Given the description of an element on the screen output the (x, y) to click on. 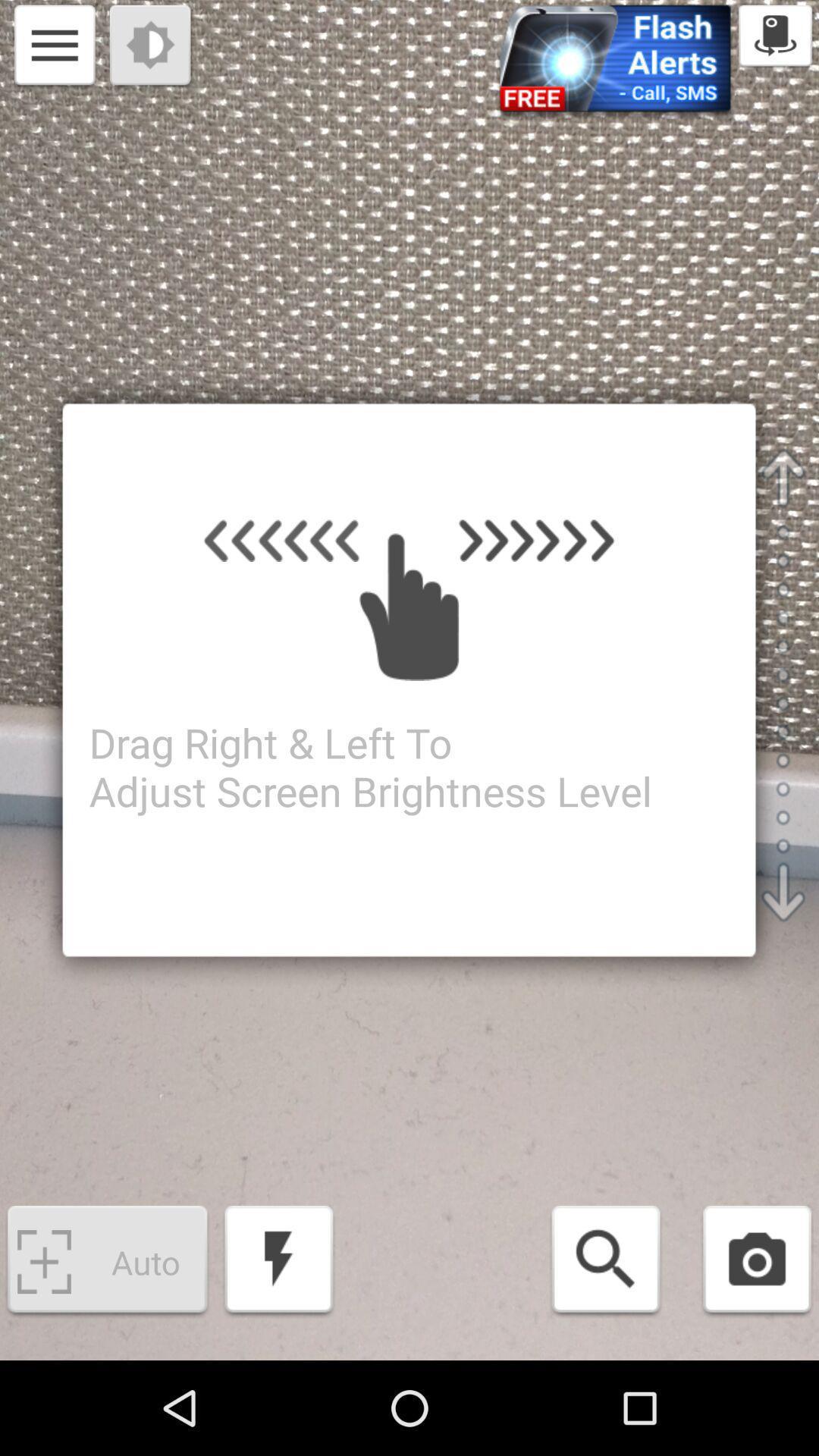
take picture (756, 1261)
